Given the description of an element on the screen output the (x, y) to click on. 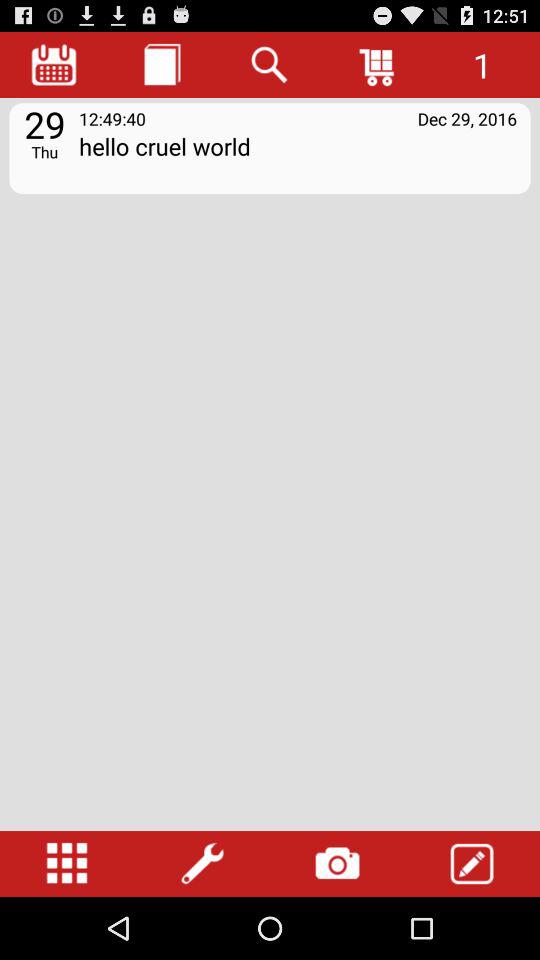
click app to the left of hello cruel world (44, 151)
